Given the description of an element on the screen output the (x, y) to click on. 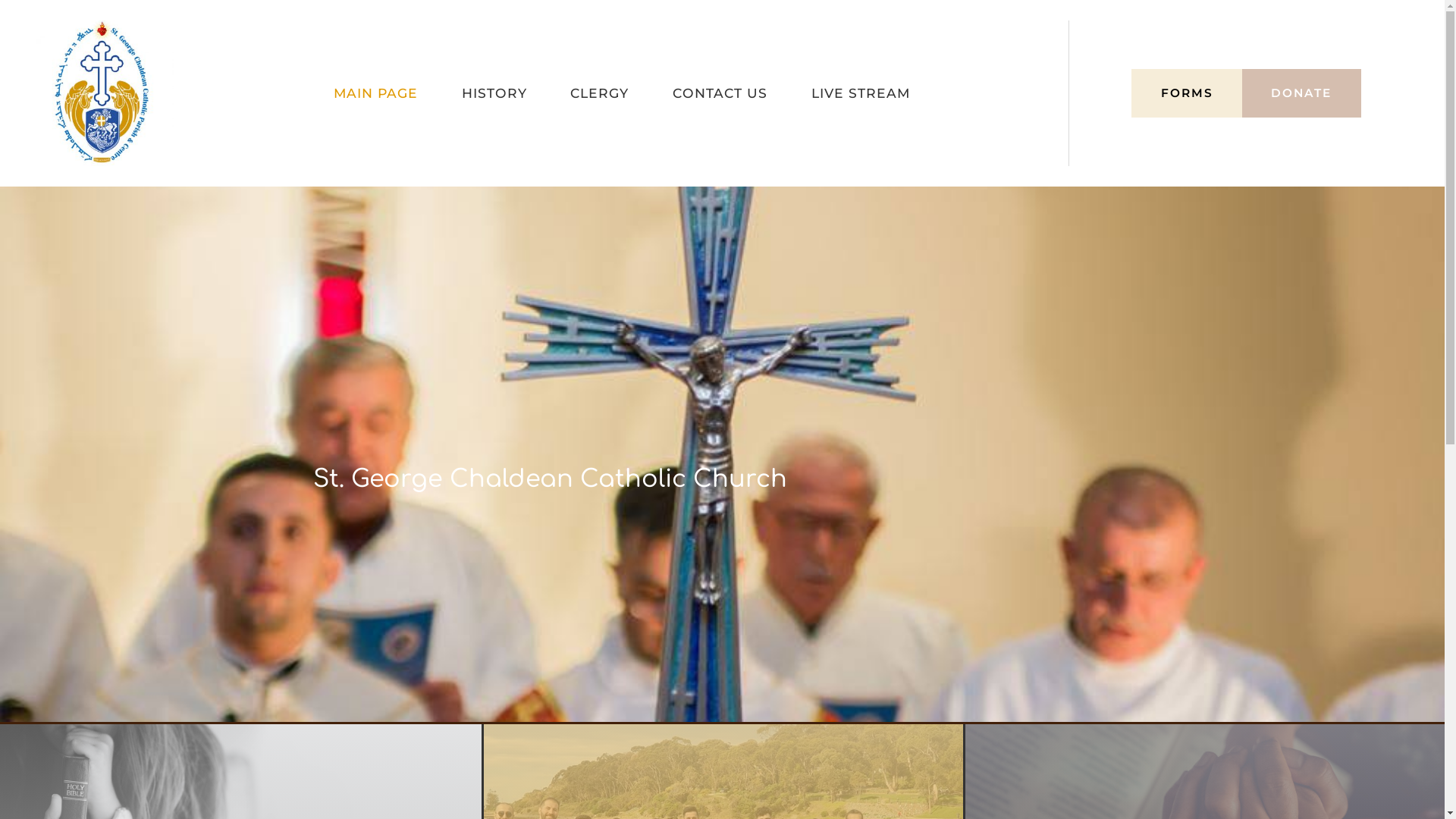
LIVE STREAM Element type: text (860, 93)
CLERGY Element type: text (599, 93)
MAIN PAGE Element type: text (375, 93)
CONTACT US Element type: text (719, 93)
HISTORY Element type: text (494, 93)
FORMS Element type: text (1186, 93)
DONATE Element type: text (1301, 93)
